Given the description of an element on the screen output the (x, y) to click on. 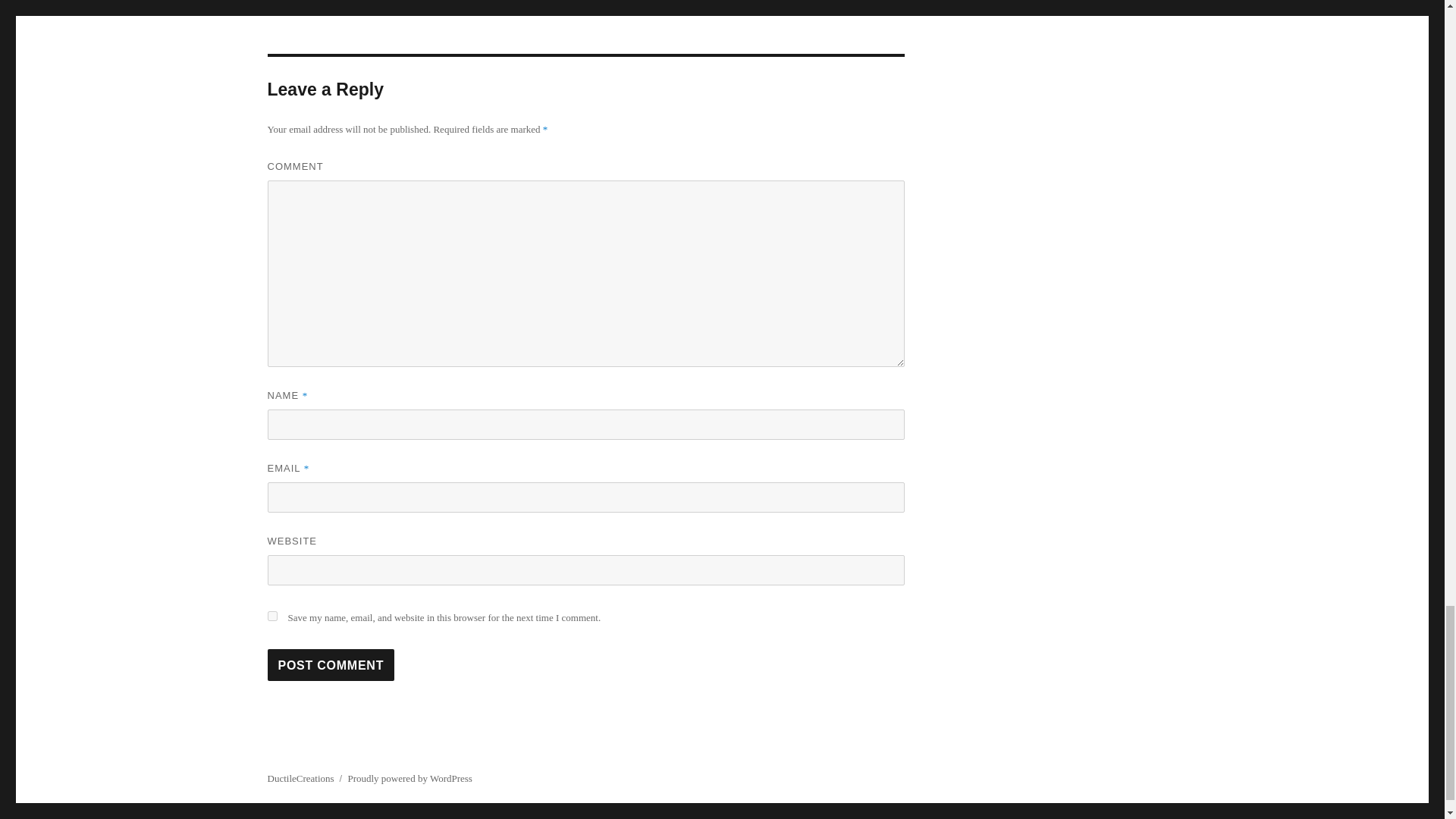
Proudly powered by WordPress (409, 778)
DuctileCreations (299, 778)
Post Comment (330, 664)
yes (271, 615)
Post Comment (330, 664)
